Given the description of an element on the screen output the (x, y) to click on. 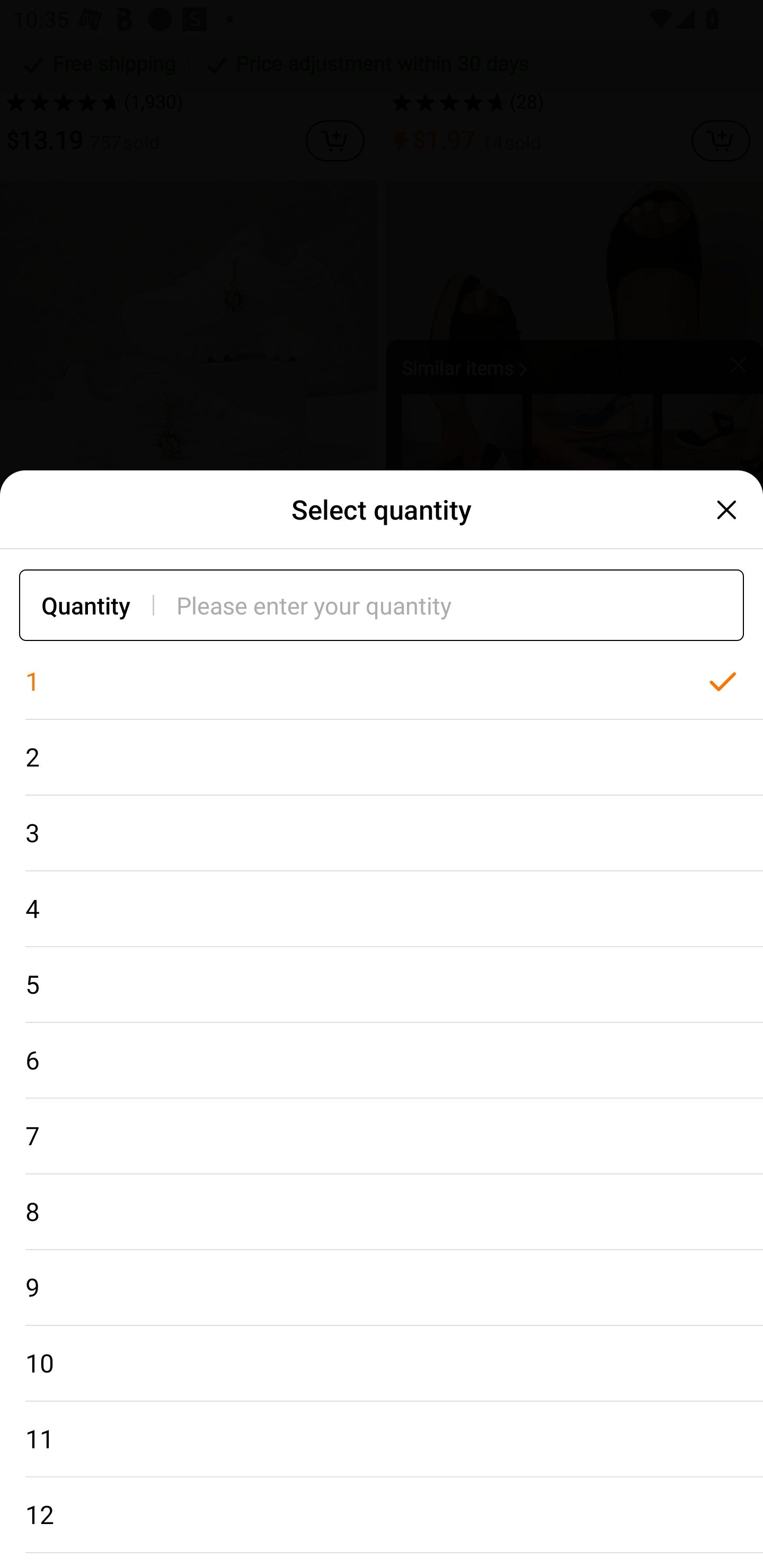
Please enter your quantity (459, 605)
1 (381, 681)
2 (381, 756)
3 (381, 832)
4 (381, 909)
5 (381, 984)
6 (381, 1060)
7 (381, 1136)
8 (381, 1211)
9 (381, 1287)
10 (381, 1363)
11 (381, 1439)
12 (381, 1515)
